Given the description of an element on the screen output the (x, y) to click on. 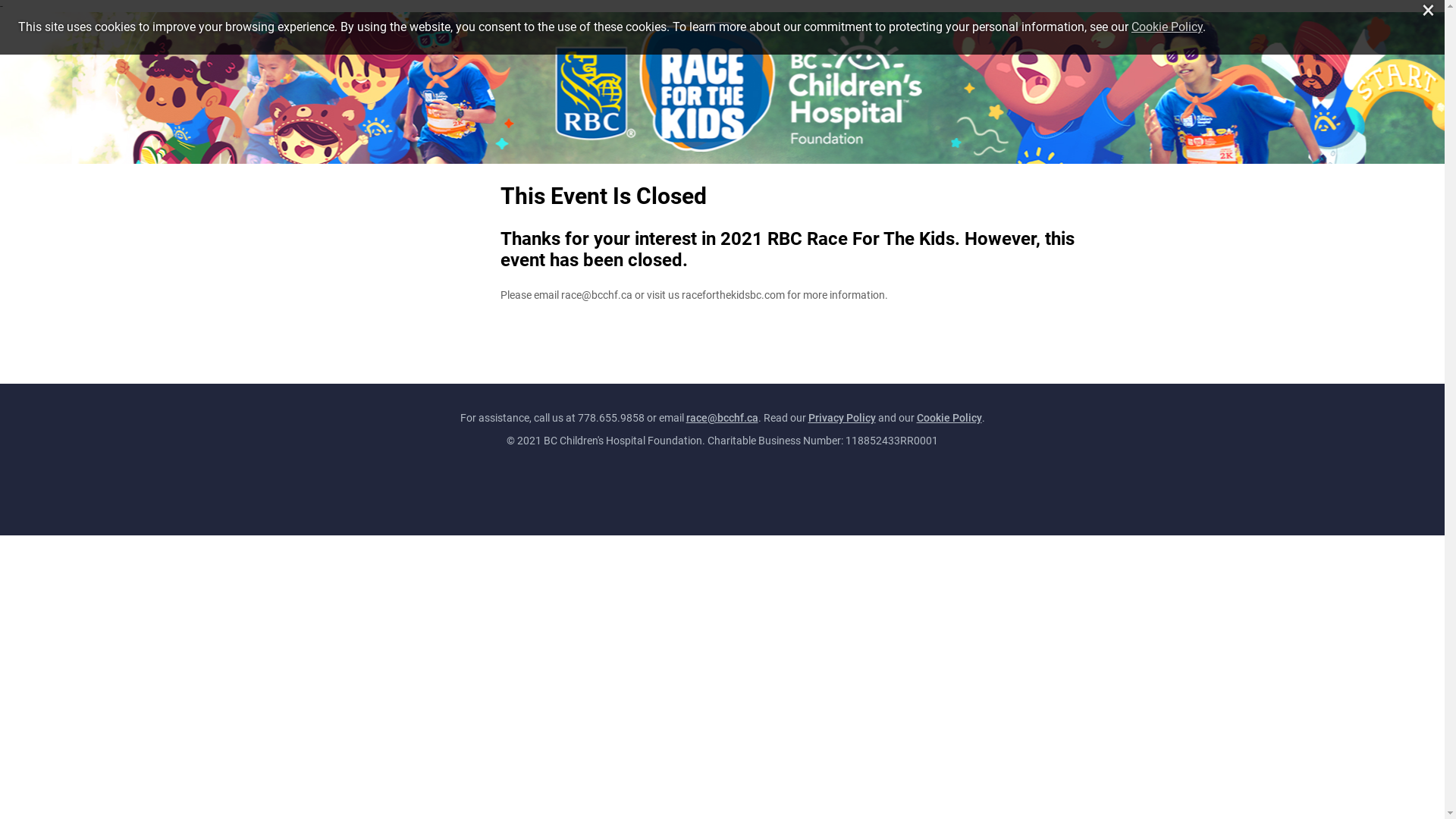
Cookie Policy Element type: text (1166, 26)
Cookie Policy Element type: text (487, 407)
race@bcchf.ca Element type: text (721, 417)
Cookie Policy Element type: text (948, 417)
Privacy Policy Element type: text (841, 417)
Privacy Policy Element type: text (405, 407)
